Given the description of an element on the screen output the (x, y) to click on. 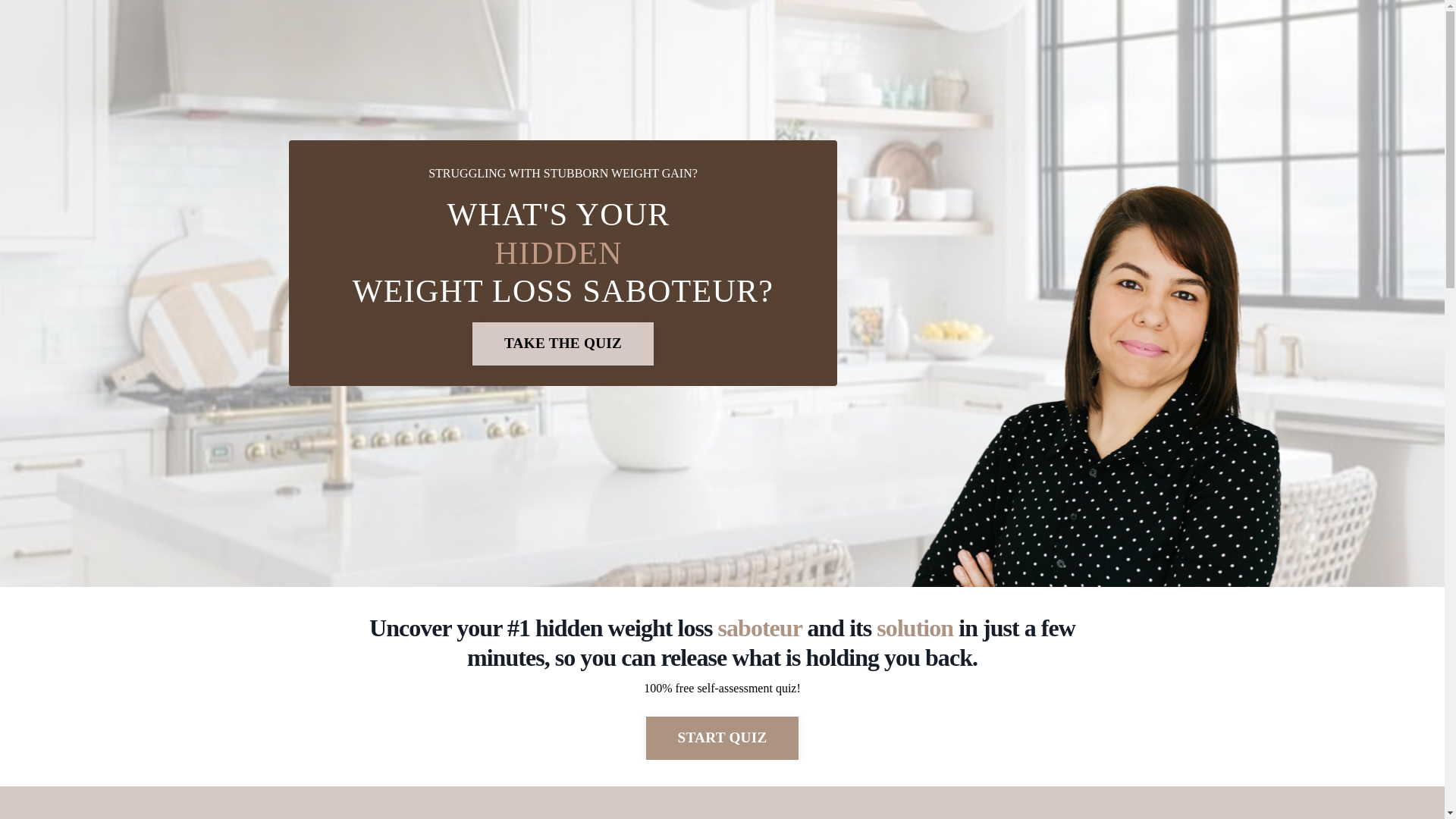
TAKE THE QUIZ (562, 343)
START QUIZ (722, 738)
